Given the description of an element on the screen output the (x, y) to click on. 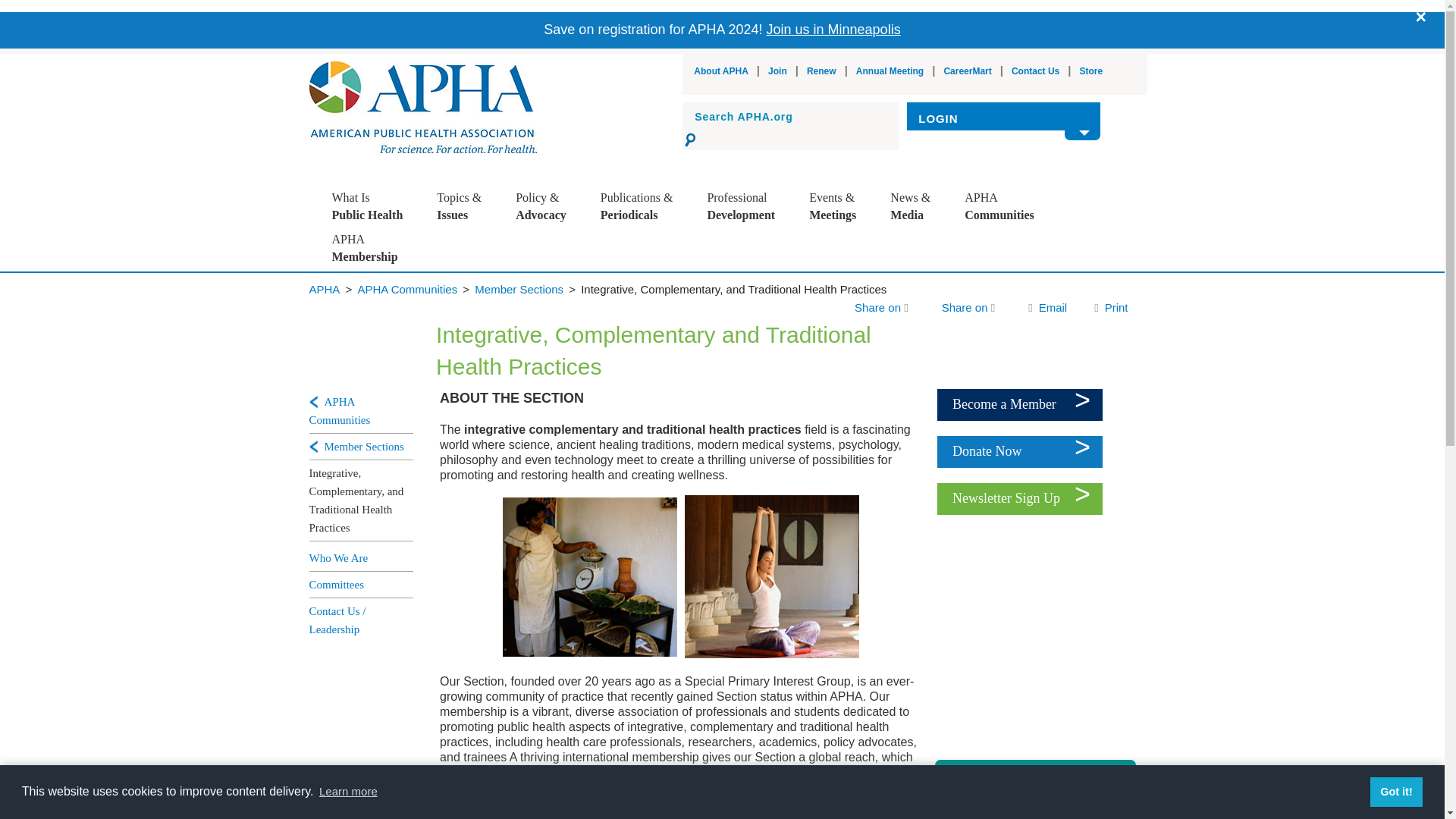
Store (1091, 71)
Submit (692, 140)
Books (658, 296)
Generation Public Health (389, 246)
Policy Statements (572, 271)
LOGIN (1003, 118)
COVID-19 (494, 296)
Submit (692, 140)
American Journal of Public Health (658, 246)
Climate, Health and Equity (494, 246)
Gun Violence (494, 346)
Got it! (1396, 791)
Environmental Health (494, 321)
Renew (820, 71)
The Nation's Health (658, 271)
